Given the description of an element on the screen output the (x, y) to click on. 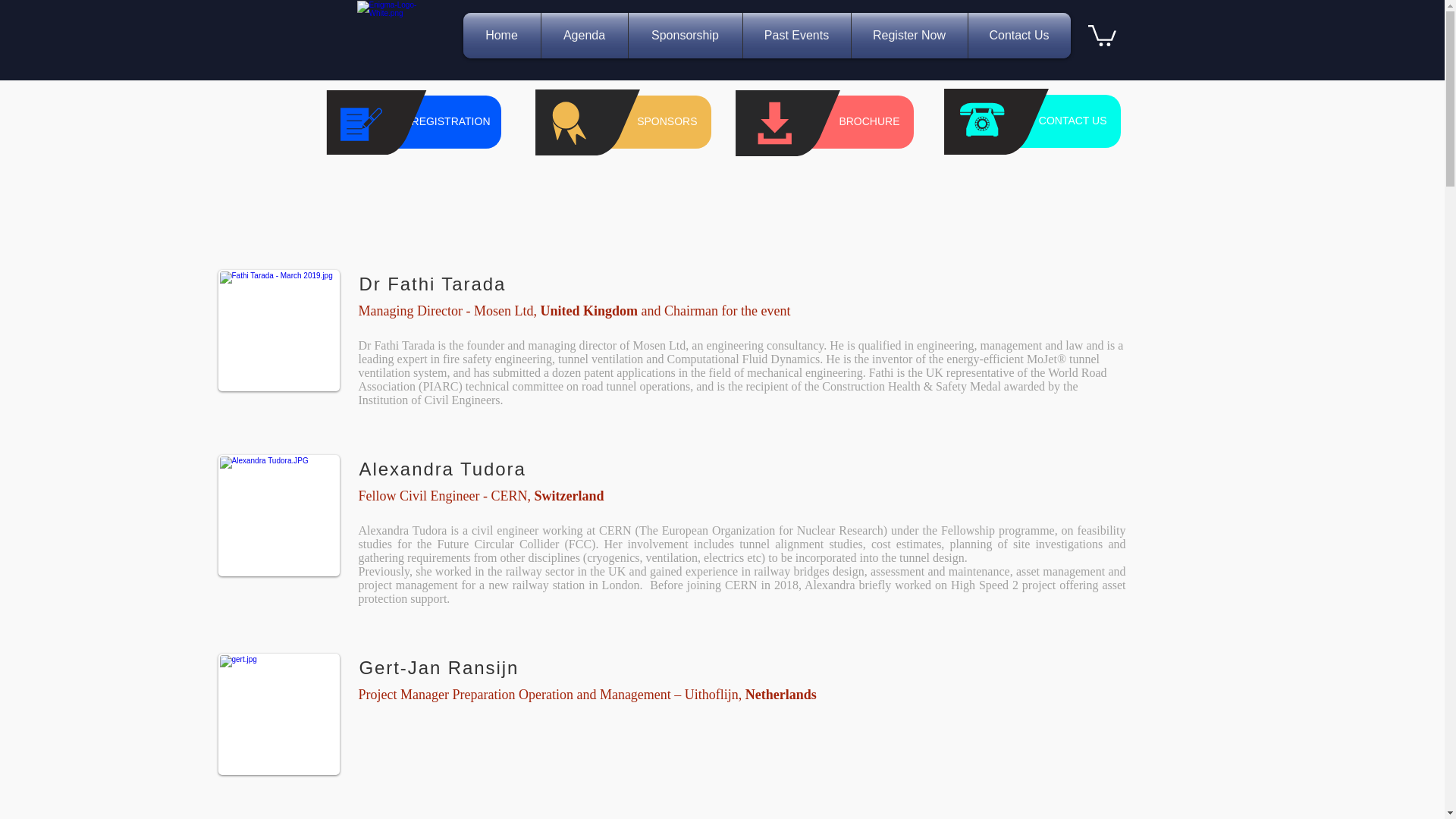
BROCHURE (827, 121)
Register Now (908, 35)
REGISTRATION (414, 121)
CONTACT US (1033, 121)
SPONSORS (624, 121)
Sponsorship (684, 35)
Contact Us (1019, 35)
Agenda (584, 35)
Past Events (796, 35)
Home (501, 35)
